Given the description of an element on the screen output the (x, y) to click on. 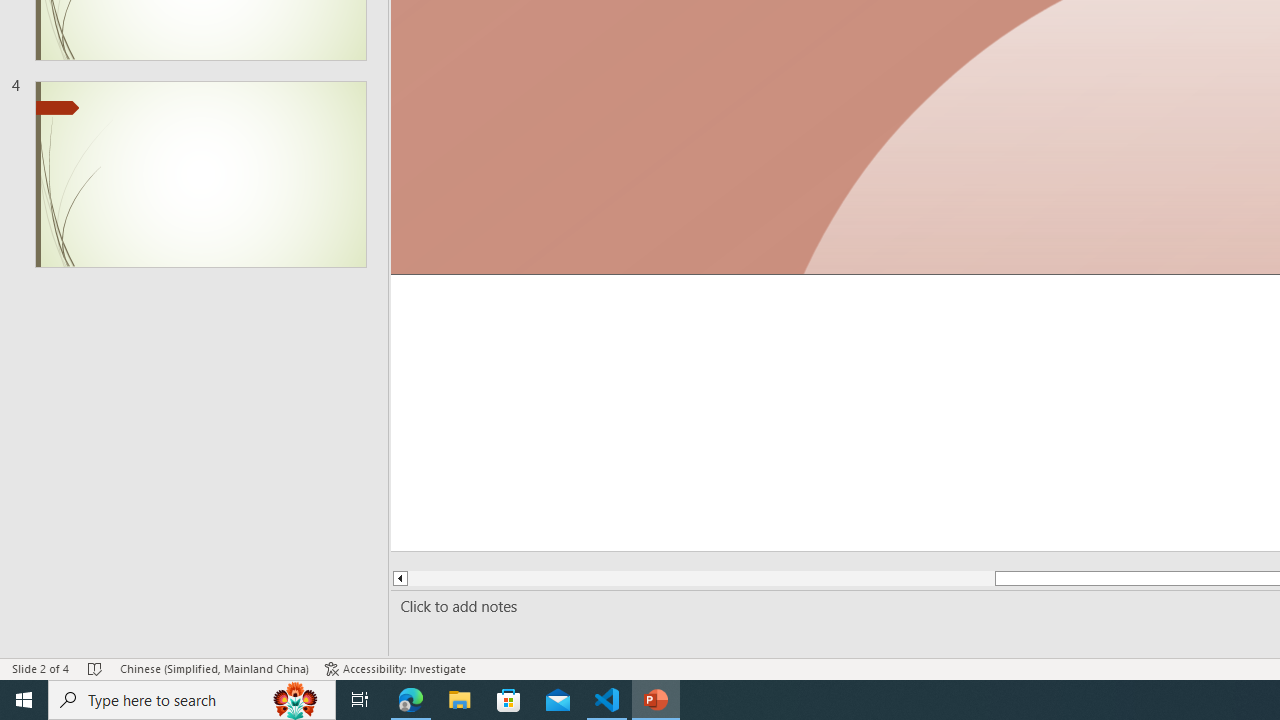
Microsoft Edge - 1 running window (411, 699)
